Given the description of an element on the screen output the (x, y) to click on. 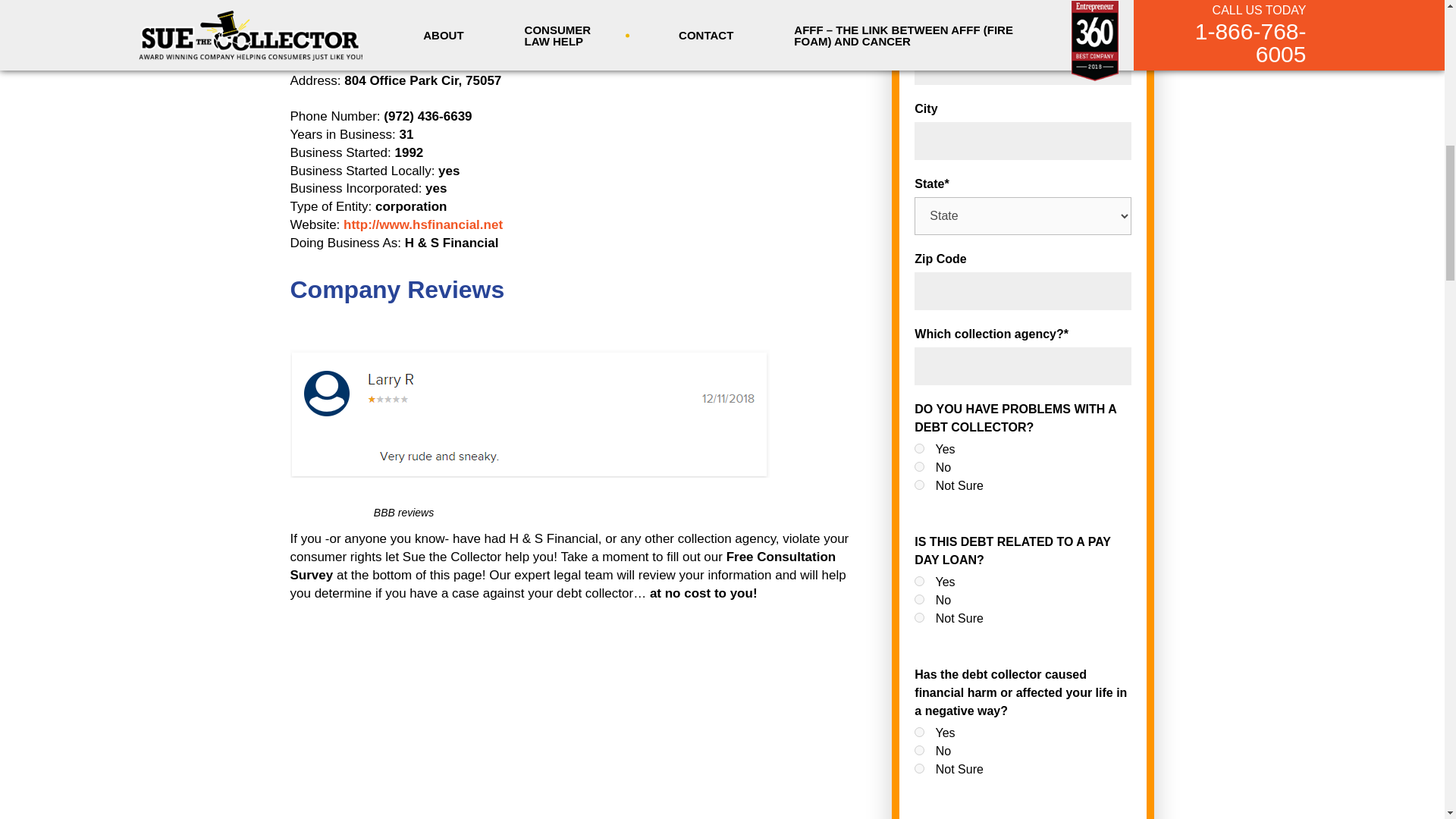
No (919, 599)
Yes (919, 581)
Yes (919, 732)
No (919, 750)
Not Sure (919, 484)
Not Sure (919, 768)
No (919, 466)
Not Sure (919, 617)
Yes (919, 448)
